Given the description of an element on the screen output the (x, y) to click on. 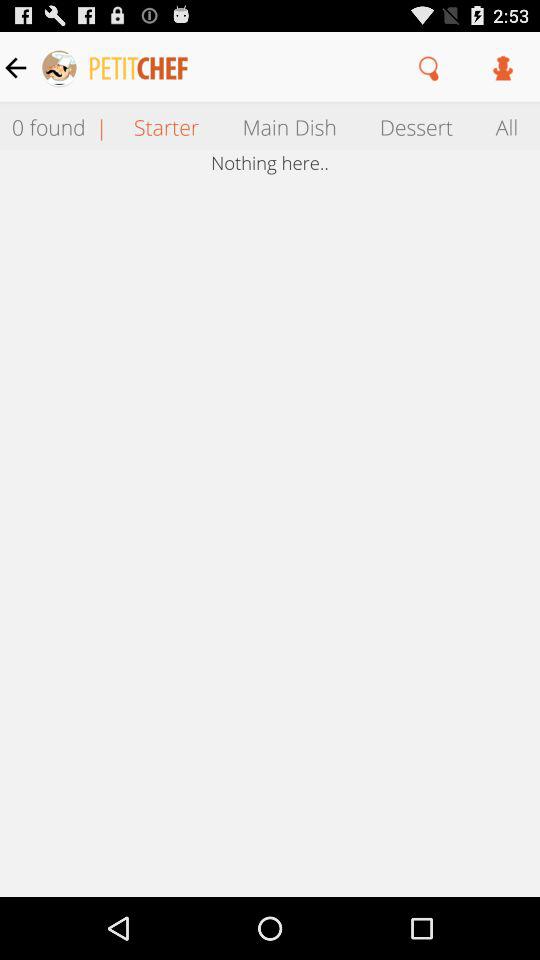
tap the item to the right of | icon (166, 126)
